Given the description of an element on the screen output the (x, y) to click on. 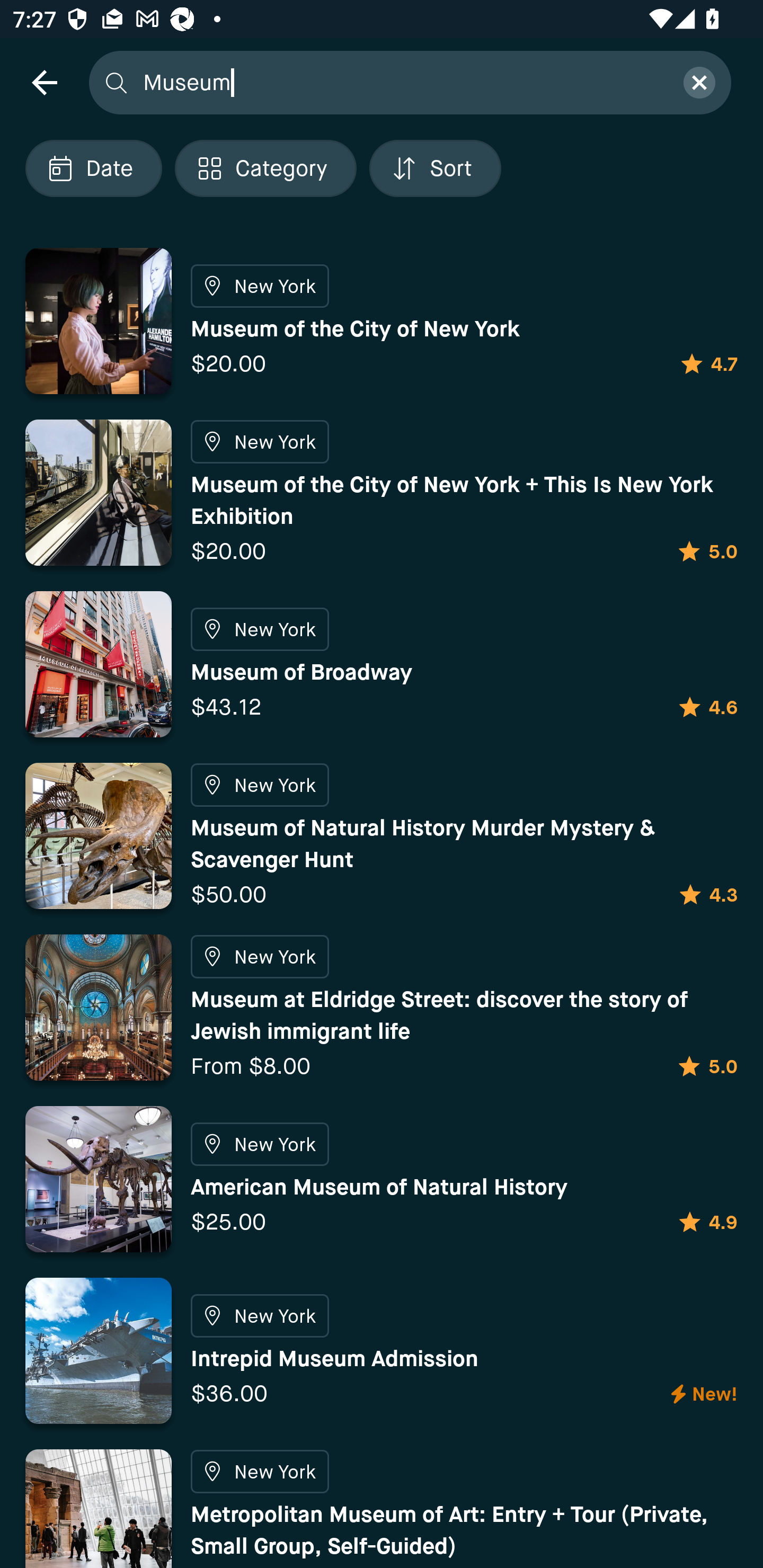
navigation icon (44, 81)
Museum (402, 81)
Localized description Date (93, 168)
Localized description Category (265, 168)
Localized description Sort (435, 168)
